Given the description of an element on the screen output the (x, y) to click on. 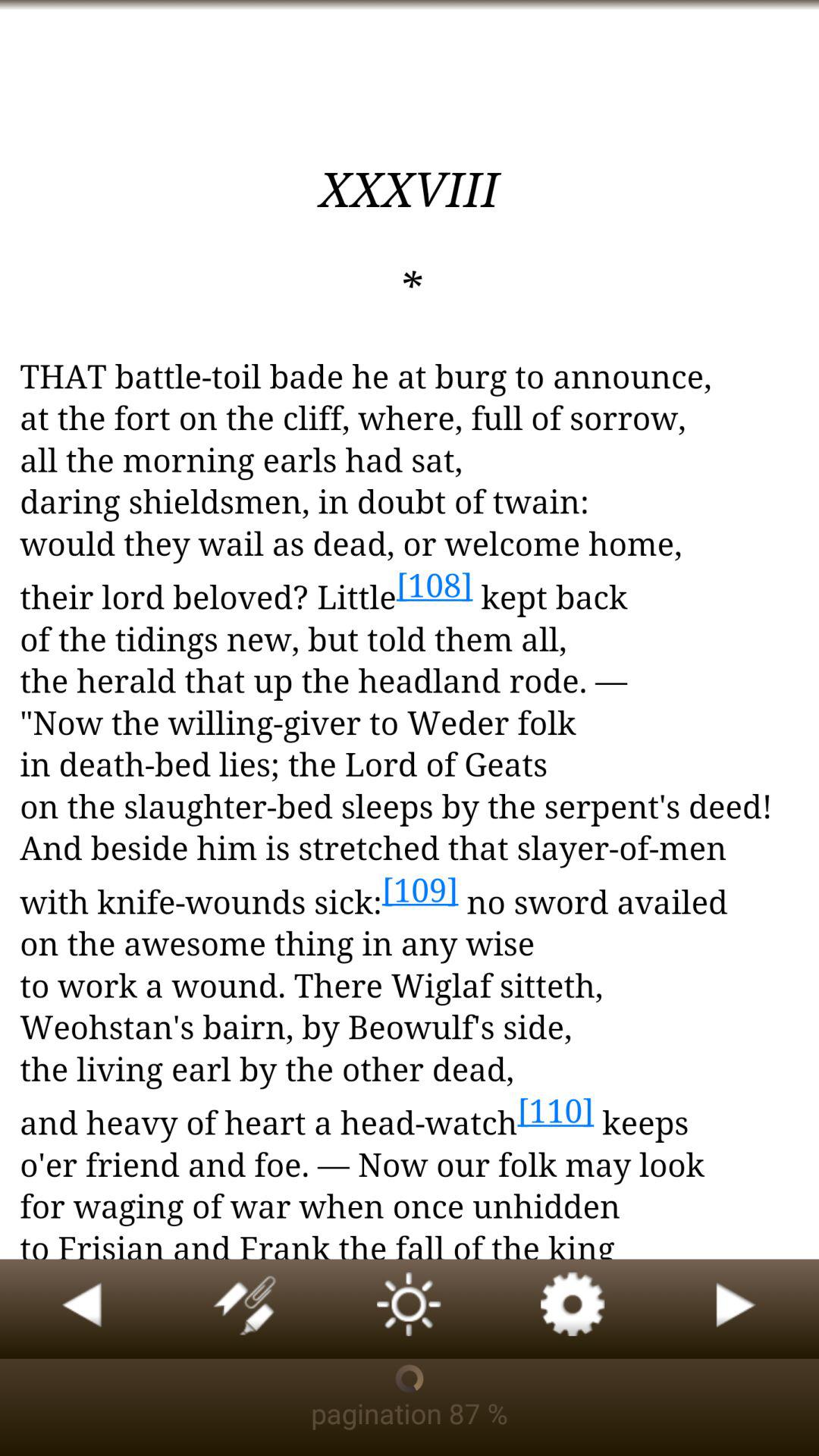
settings the article (573, 1308)
